Given the description of an element on the screen output the (x, y) to click on. 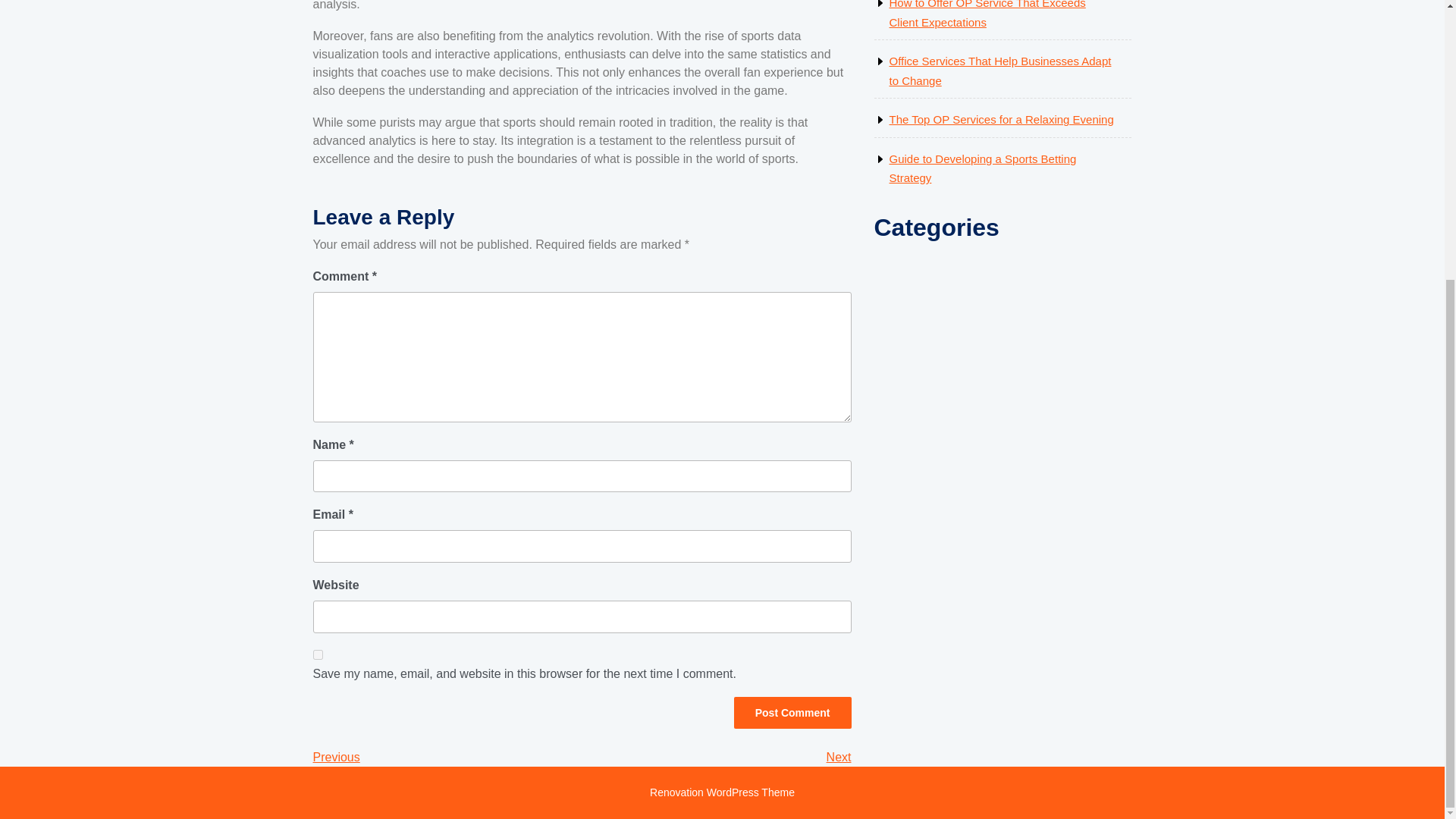
How to Offer OP Service That Exceeds Client Expectations (839, 757)
yes (986, 14)
Renovation WordPress Theme (317, 655)
Post Comment (721, 792)
Guide to Developing a Sports Betting Strategy (792, 712)
Post Comment (981, 168)
Office Services That Help Businesses Adapt to Change (336, 757)
The Top OP Services for a Relaxing Evening (792, 712)
